Given the description of an element on the screen output the (x, y) to click on. 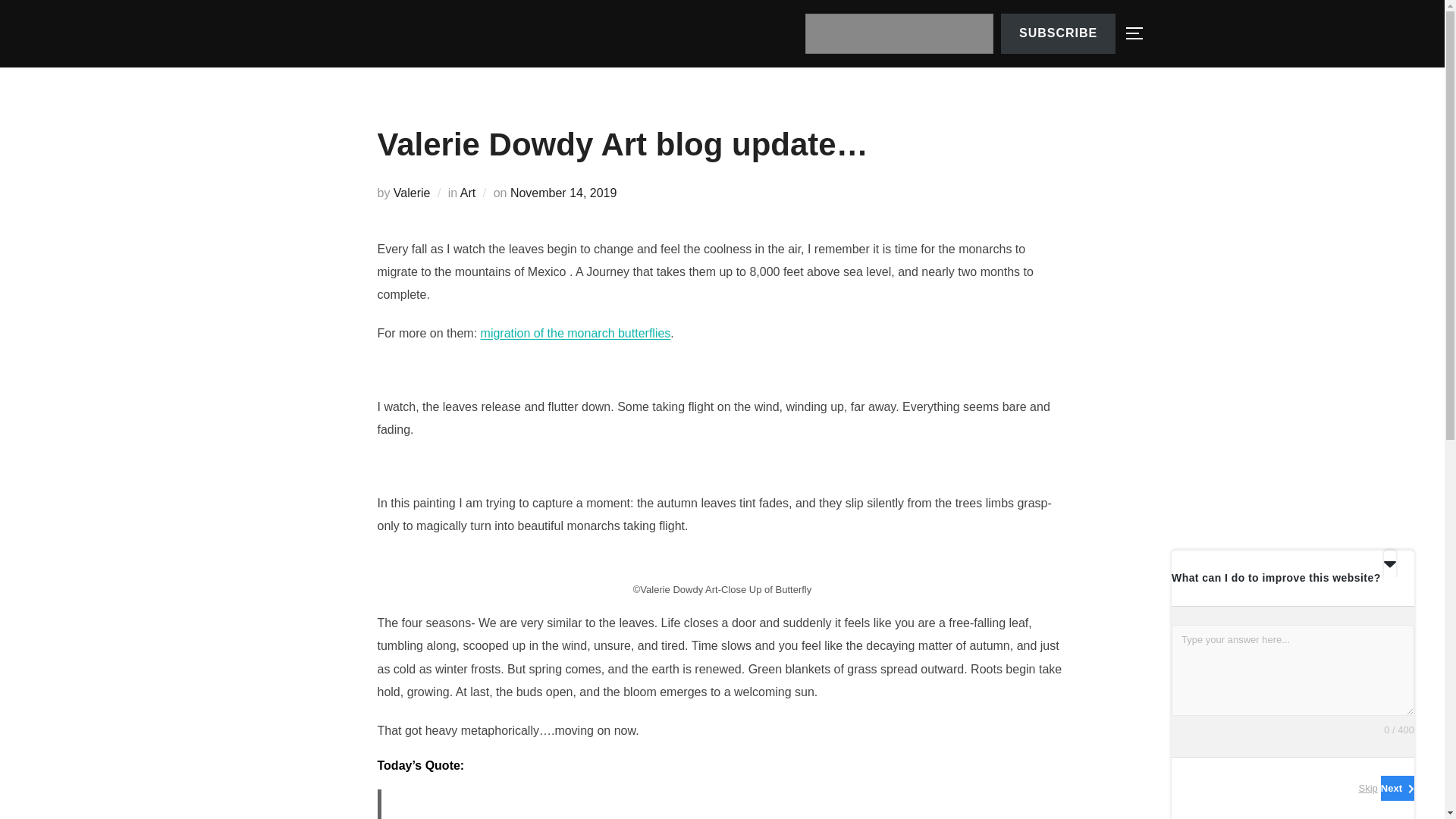
Art (468, 192)
Valerie (411, 192)
SUBSCRIBE (1058, 33)
Please fill in this field. (898, 33)
migration of the monarch butterflies (575, 332)
November 14, 2019 (564, 192)
